Given the description of an element on the screen output the (x, y) to click on. 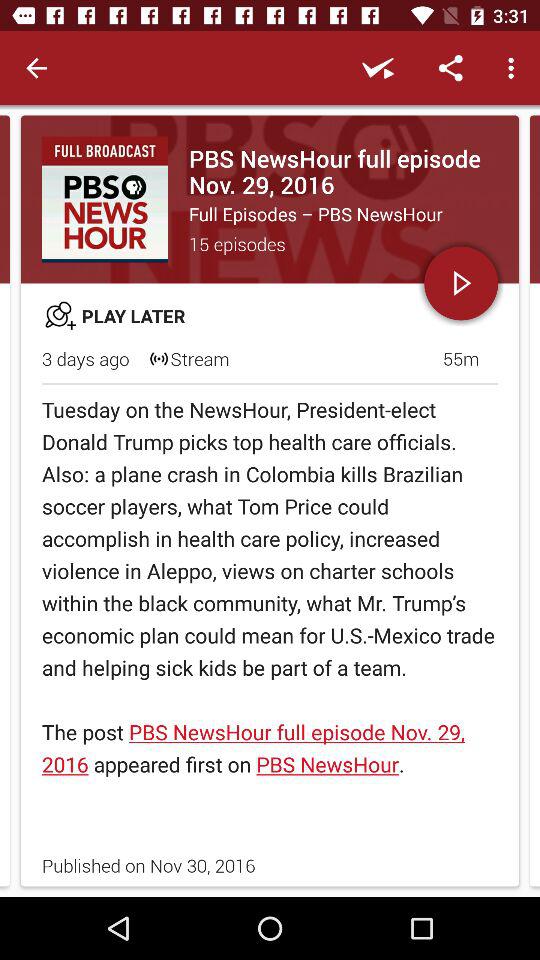
click on menu (514, 68)
